Given the description of an element on the screen output the (x, y) to click on. 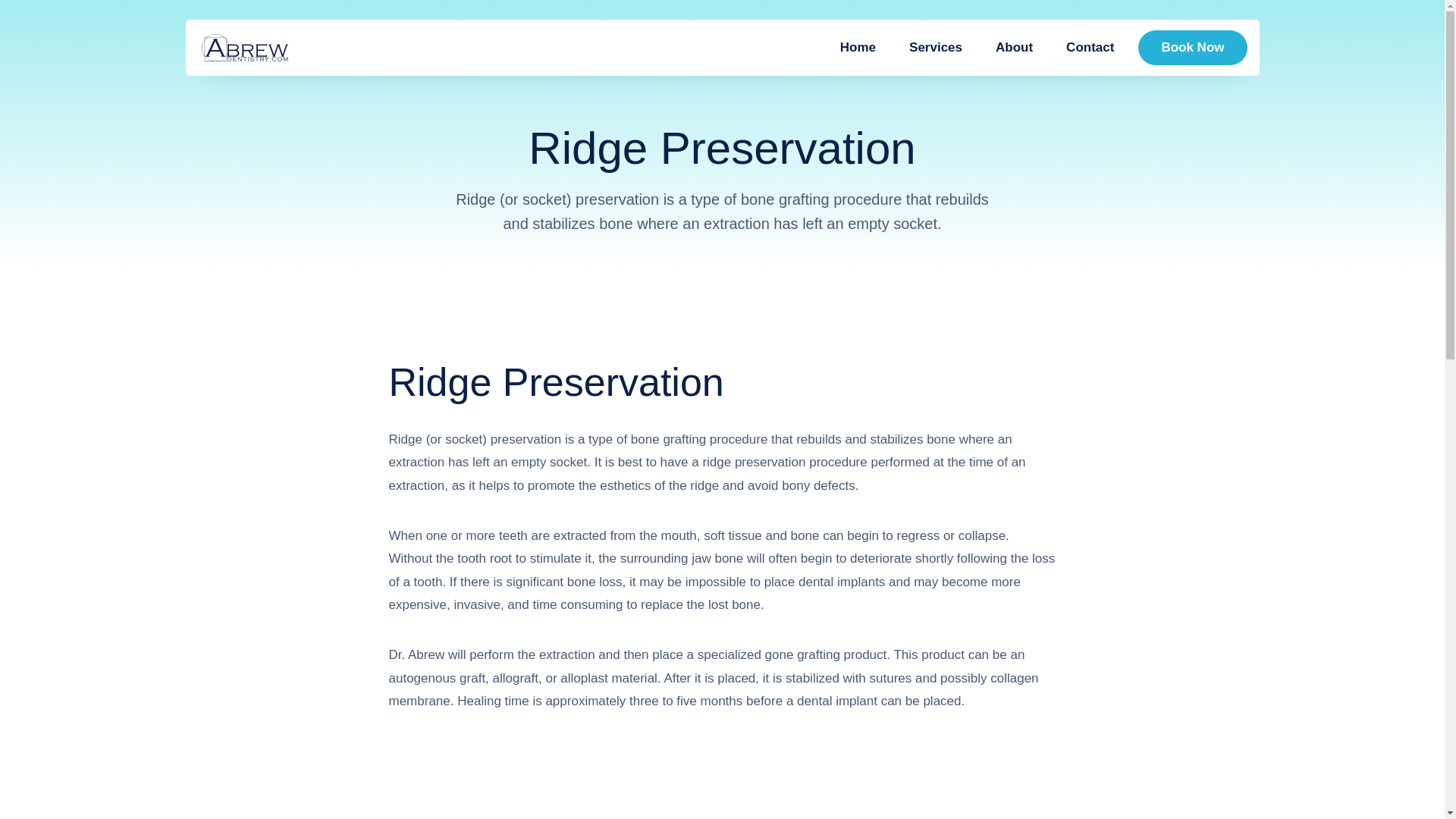
Services (935, 47)
Contact (1090, 47)
Book Now (1192, 47)
Home (858, 47)
About (1013, 47)
